Given the description of an element on the screen output the (x, y) to click on. 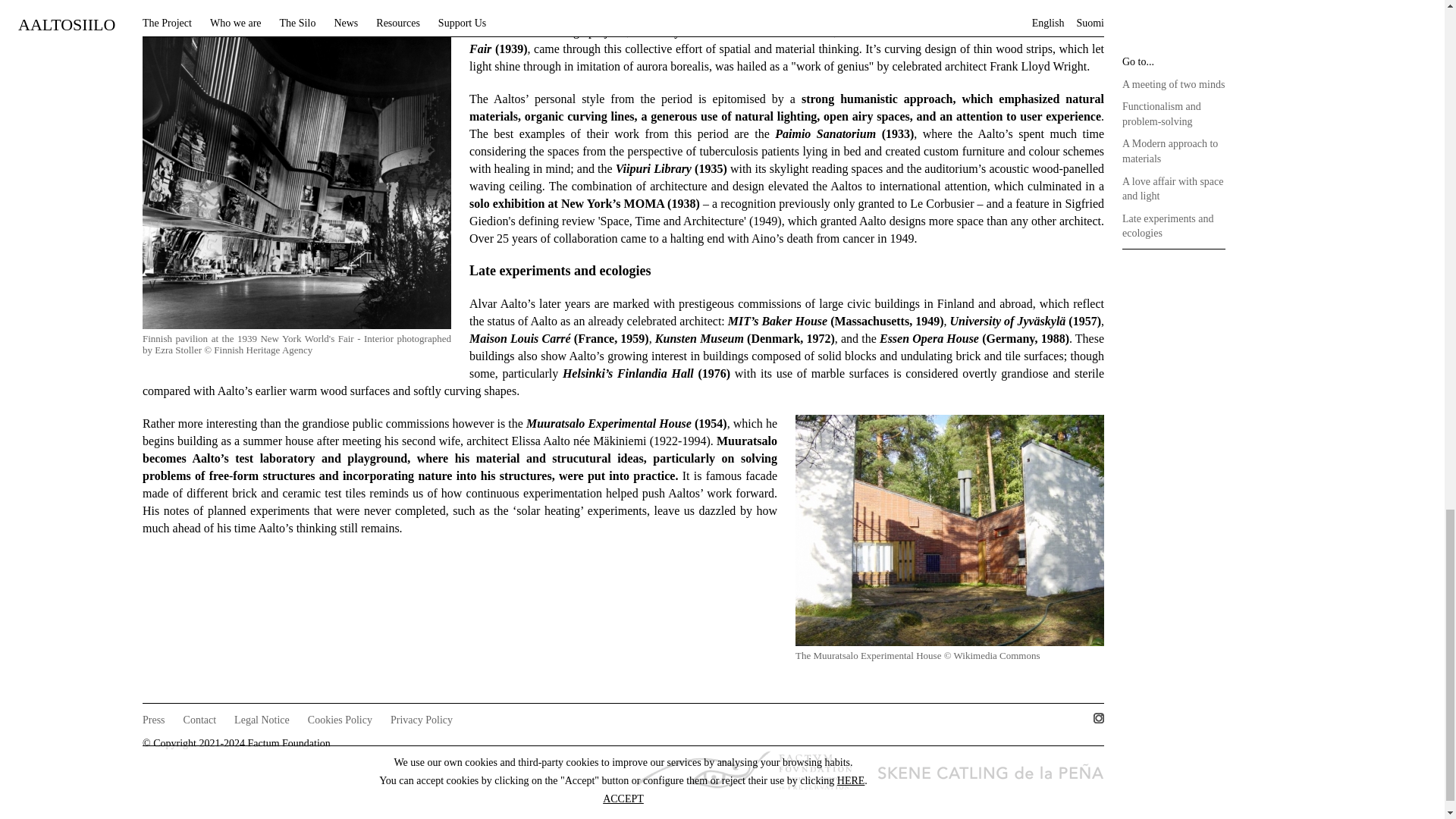
Legal Notice (261, 719)
Cookies Policy (339, 719)
Privacy Policy (421, 719)
Press (153, 719)
Contact (199, 719)
